Given the description of an element on the screen output the (x, y) to click on. 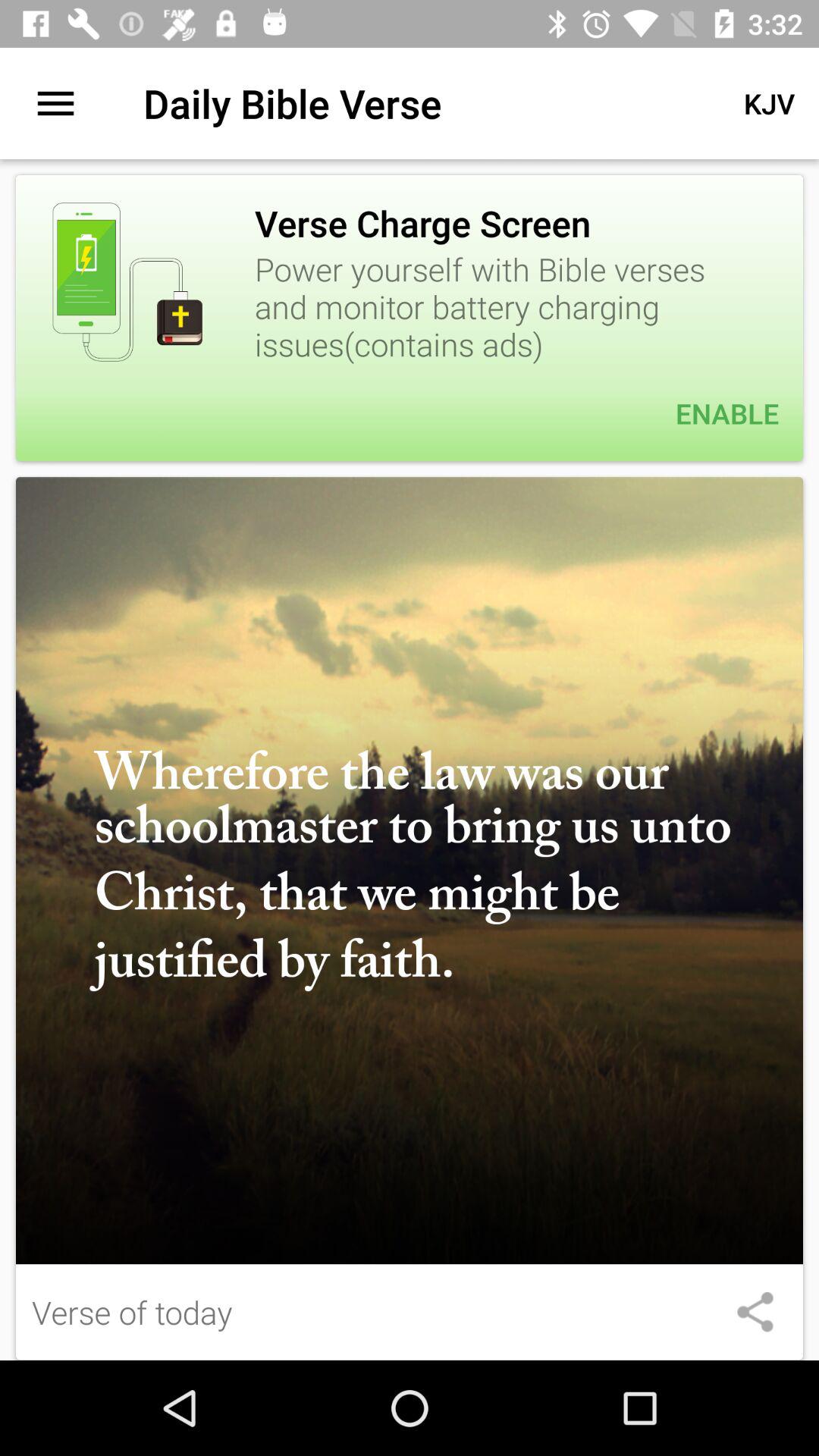
open the enable (409, 413)
